Given the description of an element on the screen output the (x, y) to click on. 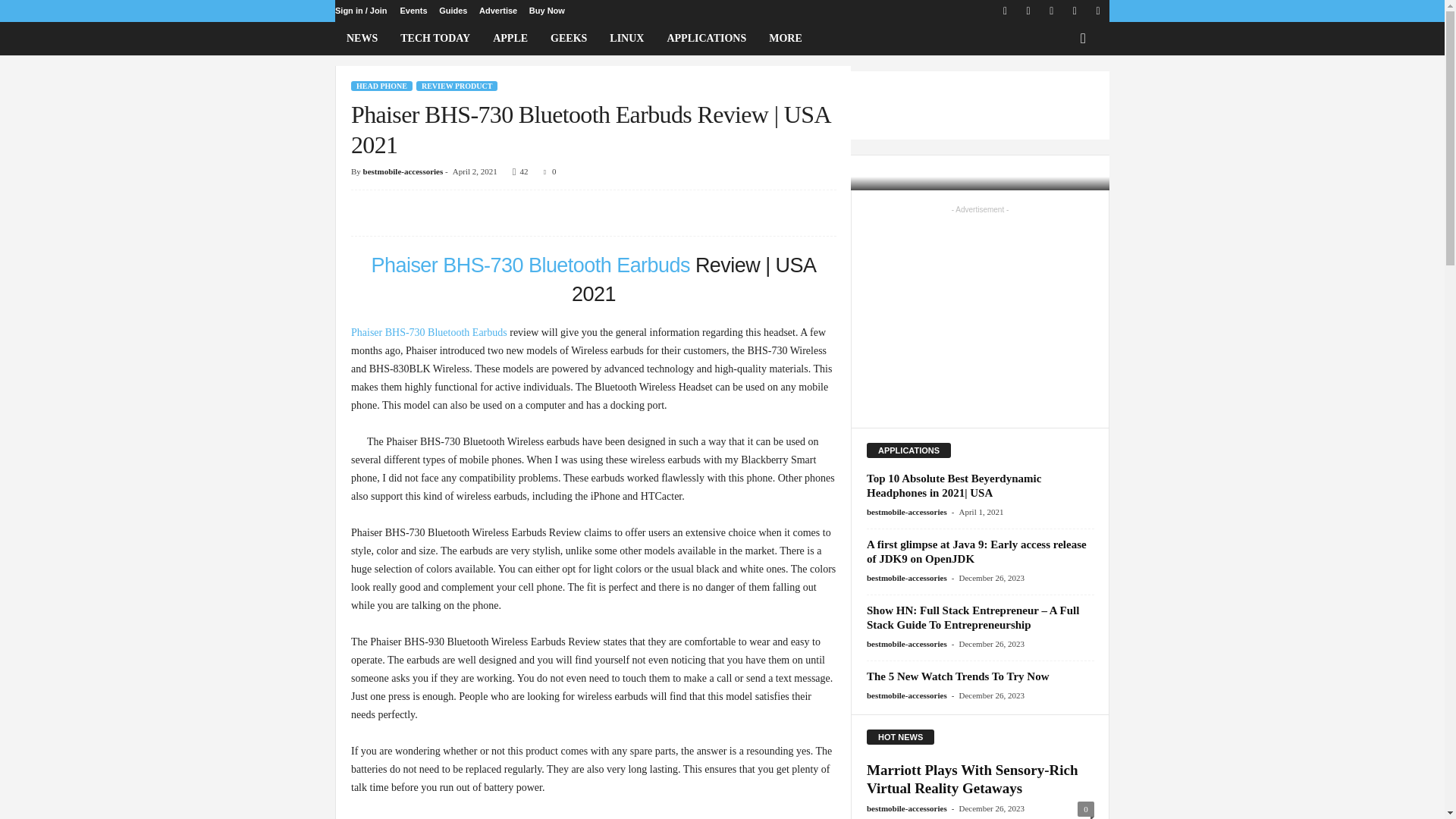
Guides (453, 10)
Events (412, 10)
Advertise (497, 10)
Buy Now (546, 10)
